Given the description of an element on the screen output the (x, y) to click on. 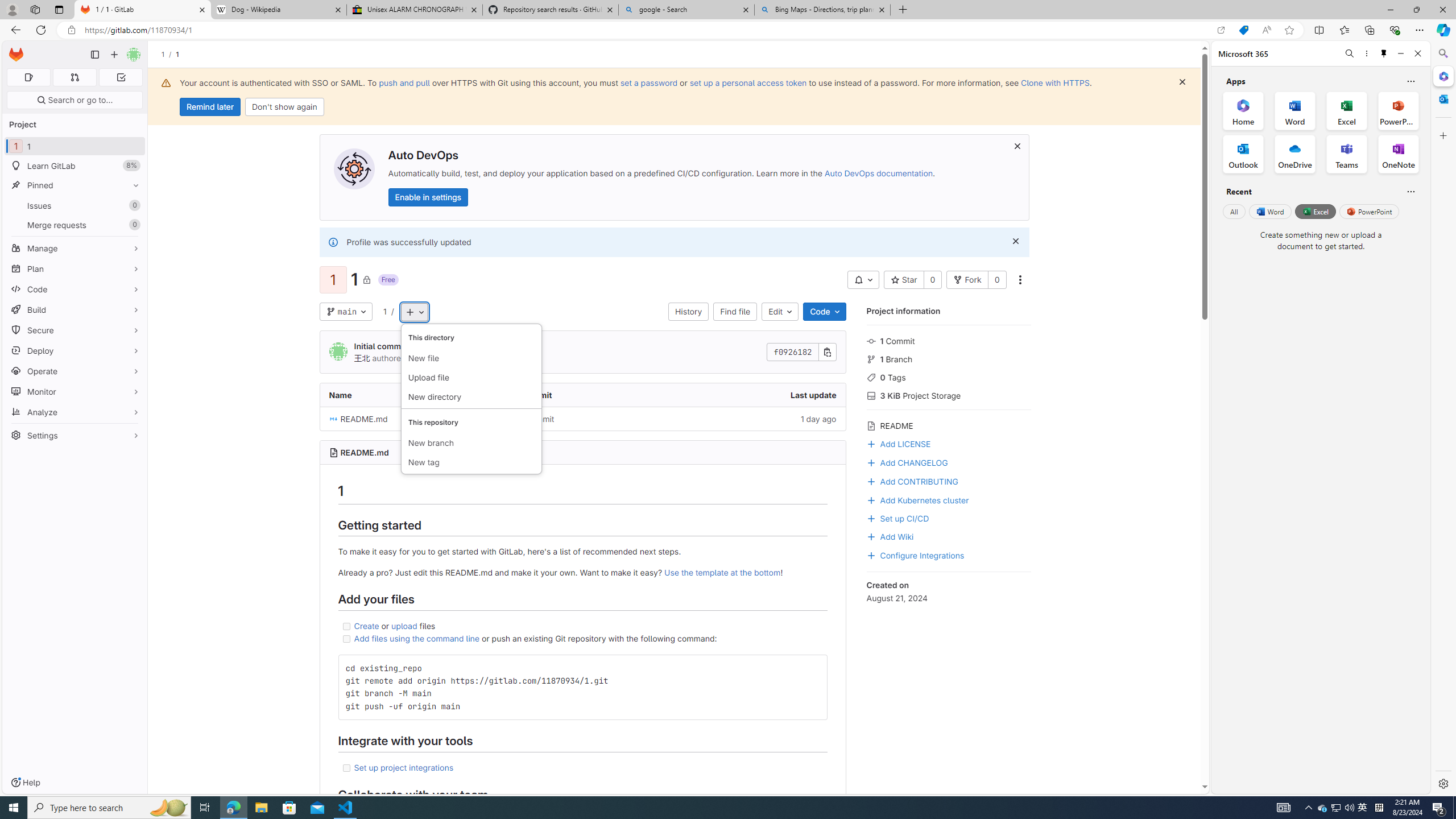
push and pull (403, 82)
Add CHANGELOG (948, 461)
Set up project integrations (403, 767)
Class: s16 gl-text-blue-500! gl-mr-3 (871, 481)
Dismiss Auto DevOps box (1017, 146)
Homepage (16, 54)
Operate (74, 370)
Initial commit (583, 418)
PowerPoint (1369, 210)
1 Commit (948, 340)
README (948, 424)
Help (25, 782)
Analyze (74, 411)
